Given the description of an element on the screen output the (x, y) to click on. 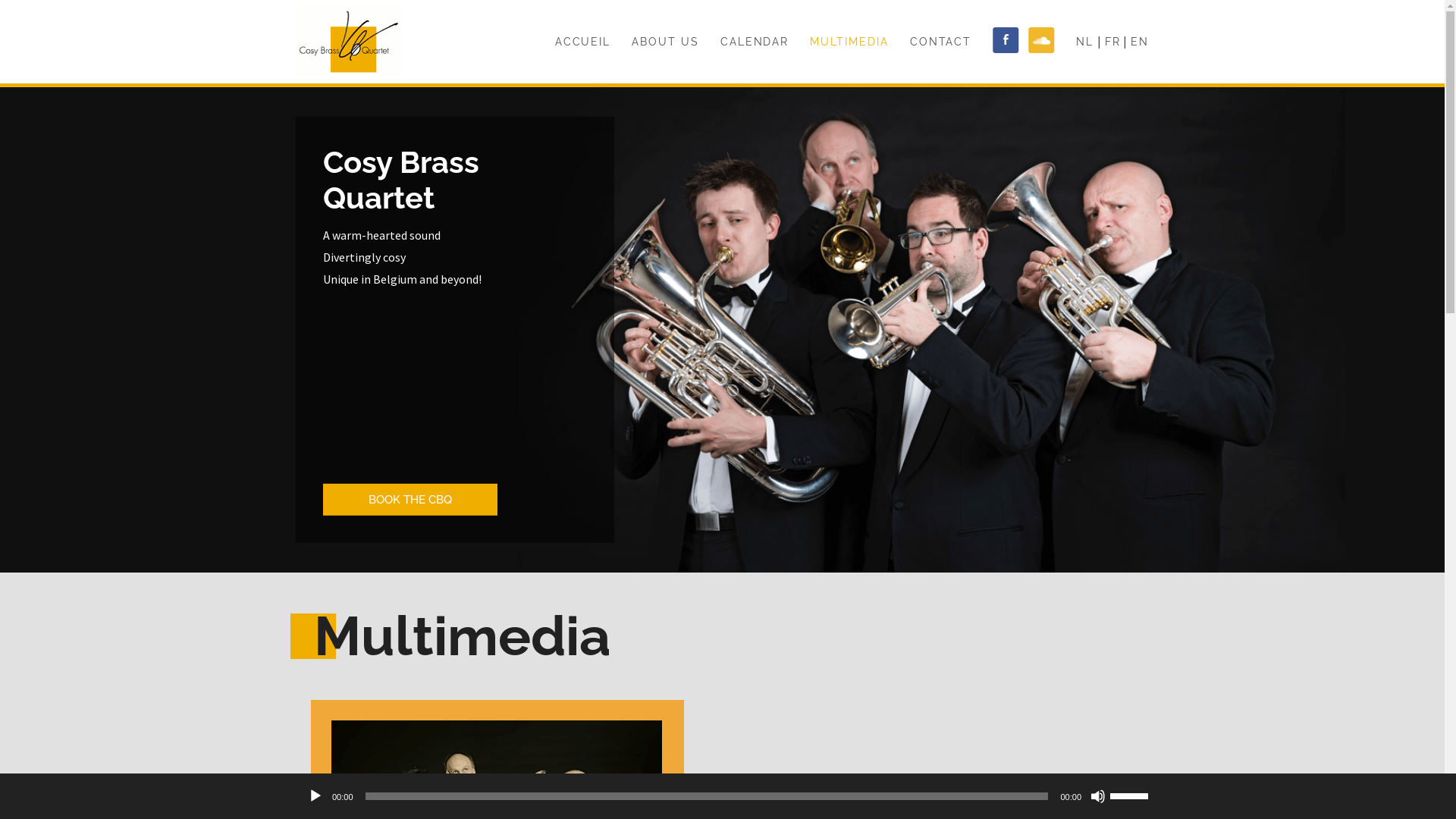
BOOK THE CBQ Element type: text (410, 499)
MULTIMEDIA Element type: text (848, 41)
Use Up/Down Arrow keys to increase or decrease volume. Element type: text (1131, 794)
ABOUT US Element type: text (665, 41)
CONTACT Element type: text (941, 41)
Mute Element type: hover (1097, 795)
NL Element type: text (1084, 41)
EN Element type: text (1139, 41)
Play Element type: hover (315, 795)
CALENDAR Element type: text (754, 41)
FR Element type: text (1112, 41)
ACCUEIL Element type: text (583, 41)
